Given the description of an element on the screen output the (x, y) to click on. 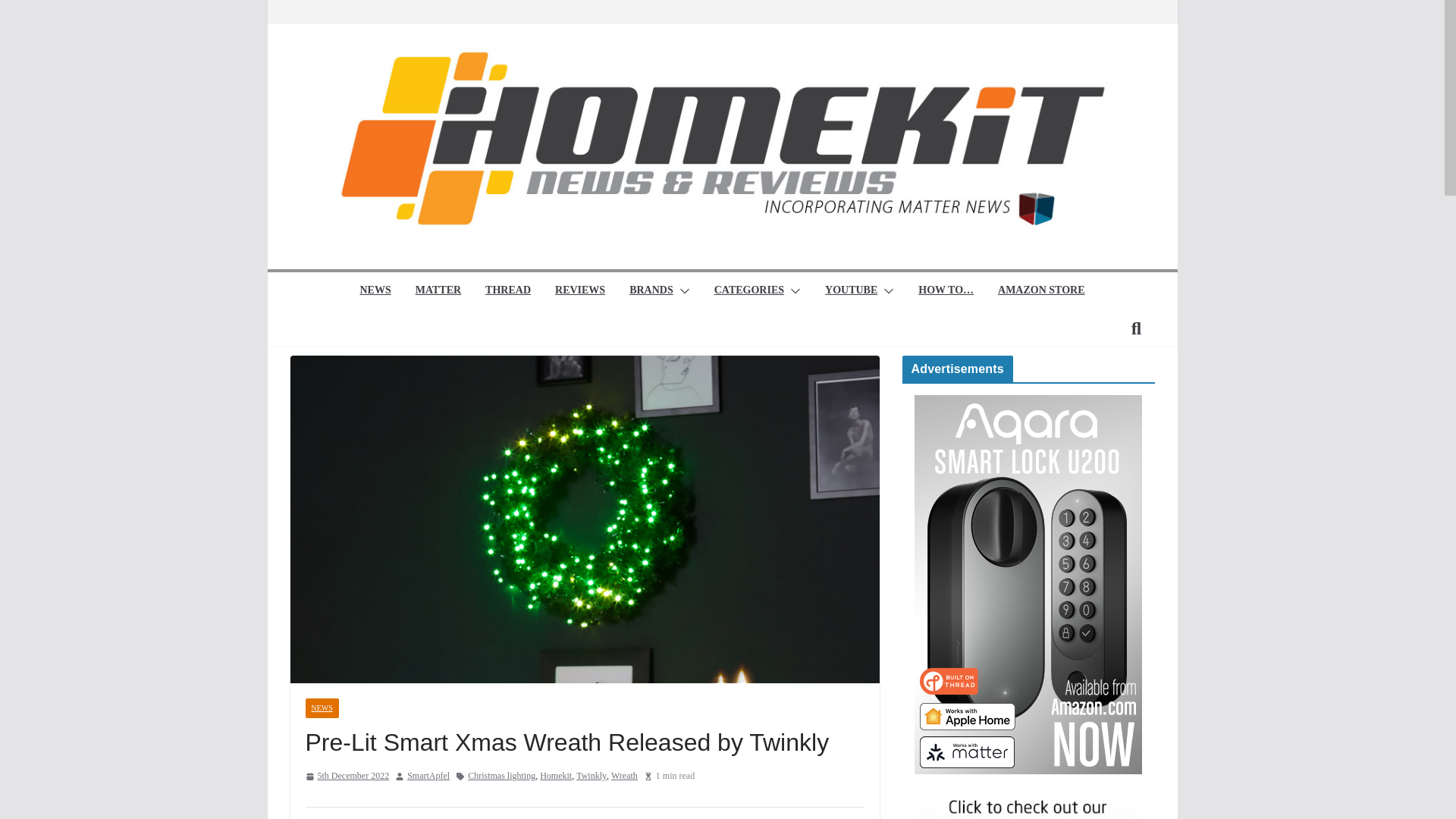
MATTER (437, 291)
3:10 pm (346, 776)
BRANDS (650, 291)
SmartApfel (428, 776)
NEWS (374, 291)
REVIEWS (579, 291)
THREAD (507, 291)
